Given the description of an element on the screen output the (x, y) to click on. 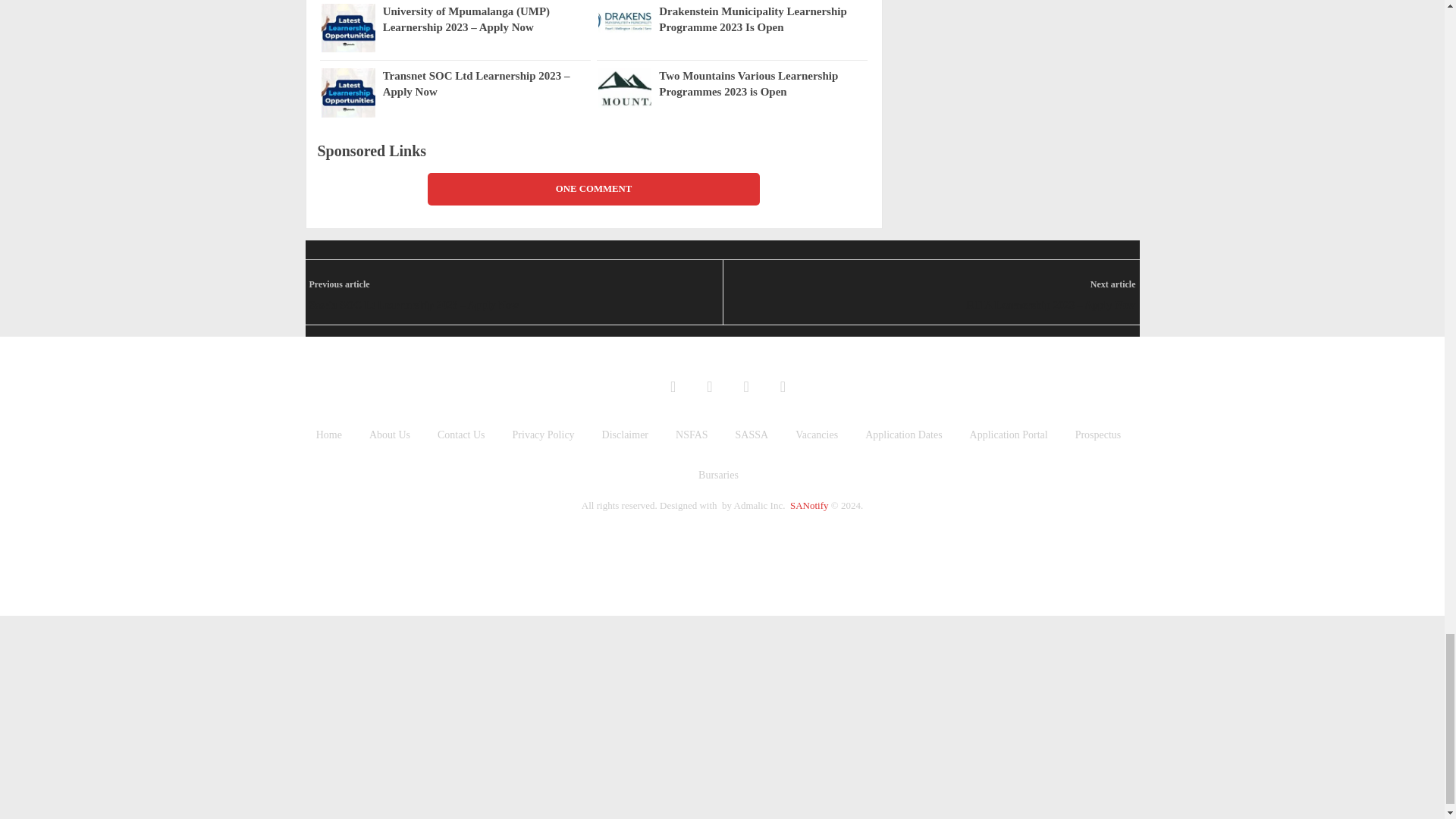
Drakenstein Municipality Learnership Programme 2023 Is Open (623, 20)
Drakenstein Municipality Learnership Programme 2023 Is Open (762, 20)
